Given the description of an element on the screen output the (x, y) to click on. 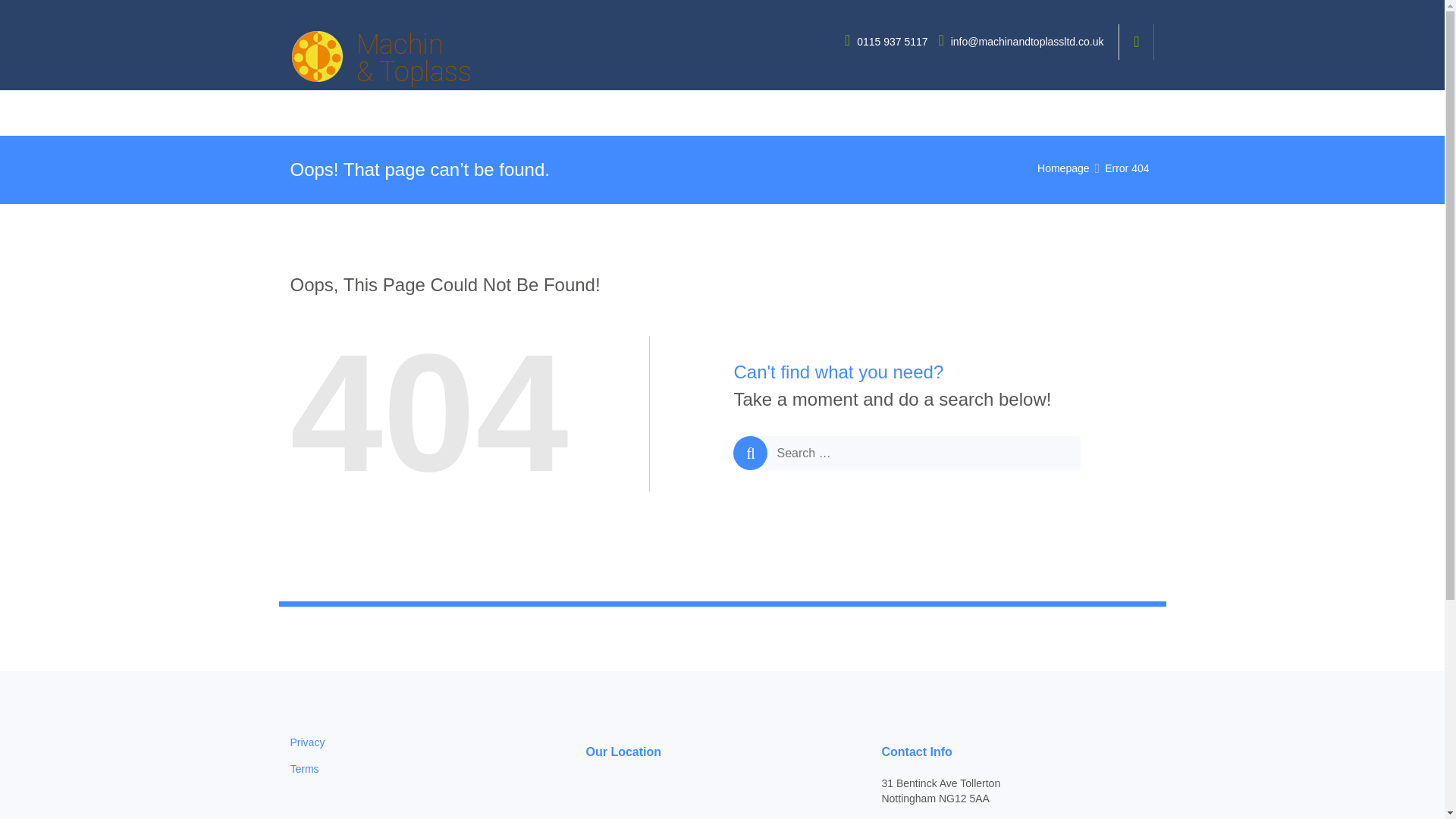
Search (1141, 113)
0115 937 5117 (887, 41)
Terms (303, 768)
Privacy (306, 742)
Homepage (1062, 168)
Homepage (1062, 168)
Search (1141, 113)
